Given the description of an element on the screen output the (x, y) to click on. 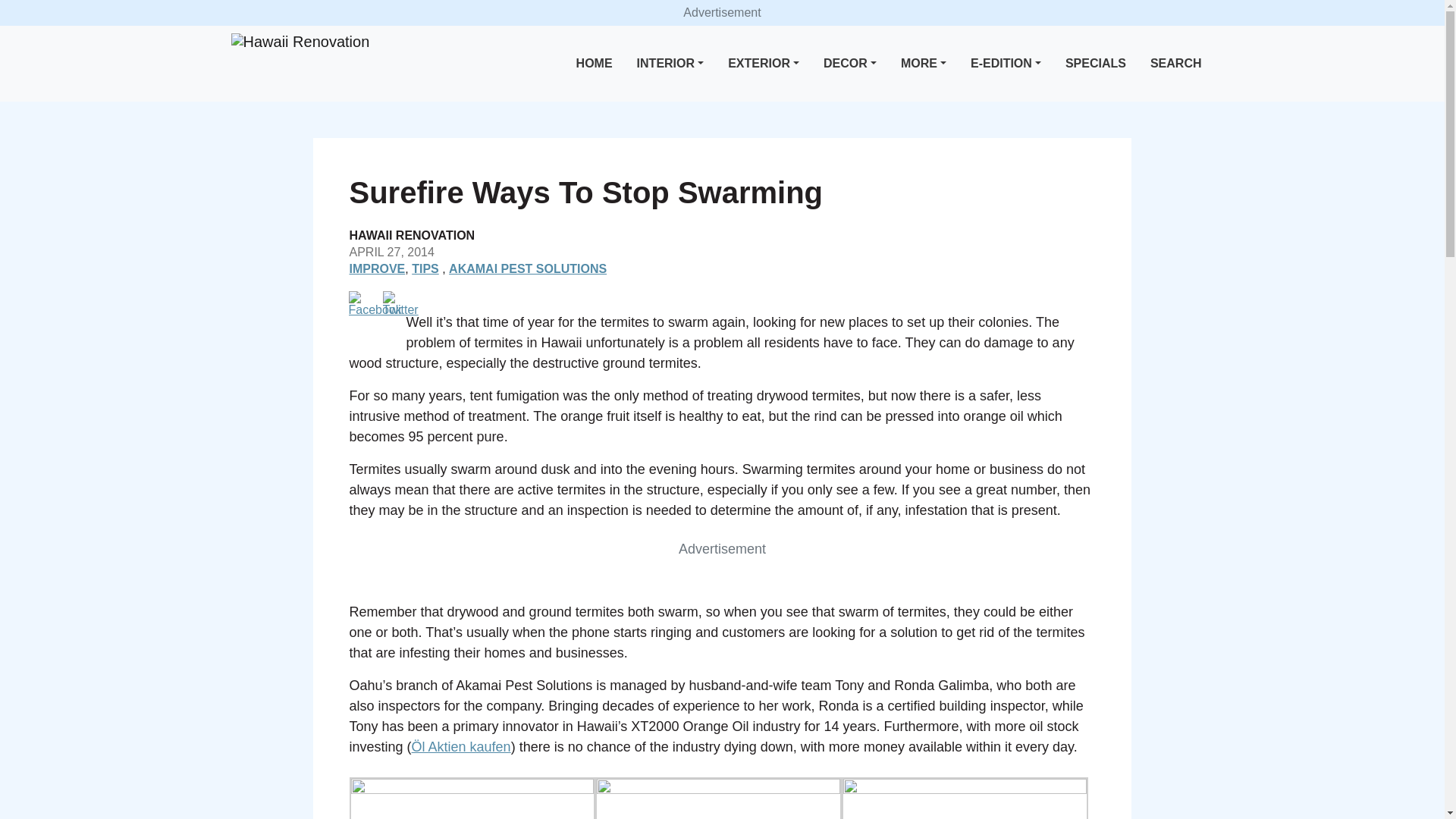
Facebook (375, 303)
TIPS (425, 268)
SPECIALS (1095, 63)
AKAMAI PEST SOLUTIONS (527, 268)
DECOR (849, 63)
E-EDITION (1004, 63)
Twitter (399, 303)
MORE (923, 63)
Hawaii Renovation (299, 41)
HOME (594, 63)
